Given the description of an element on the screen output the (x, y) to click on. 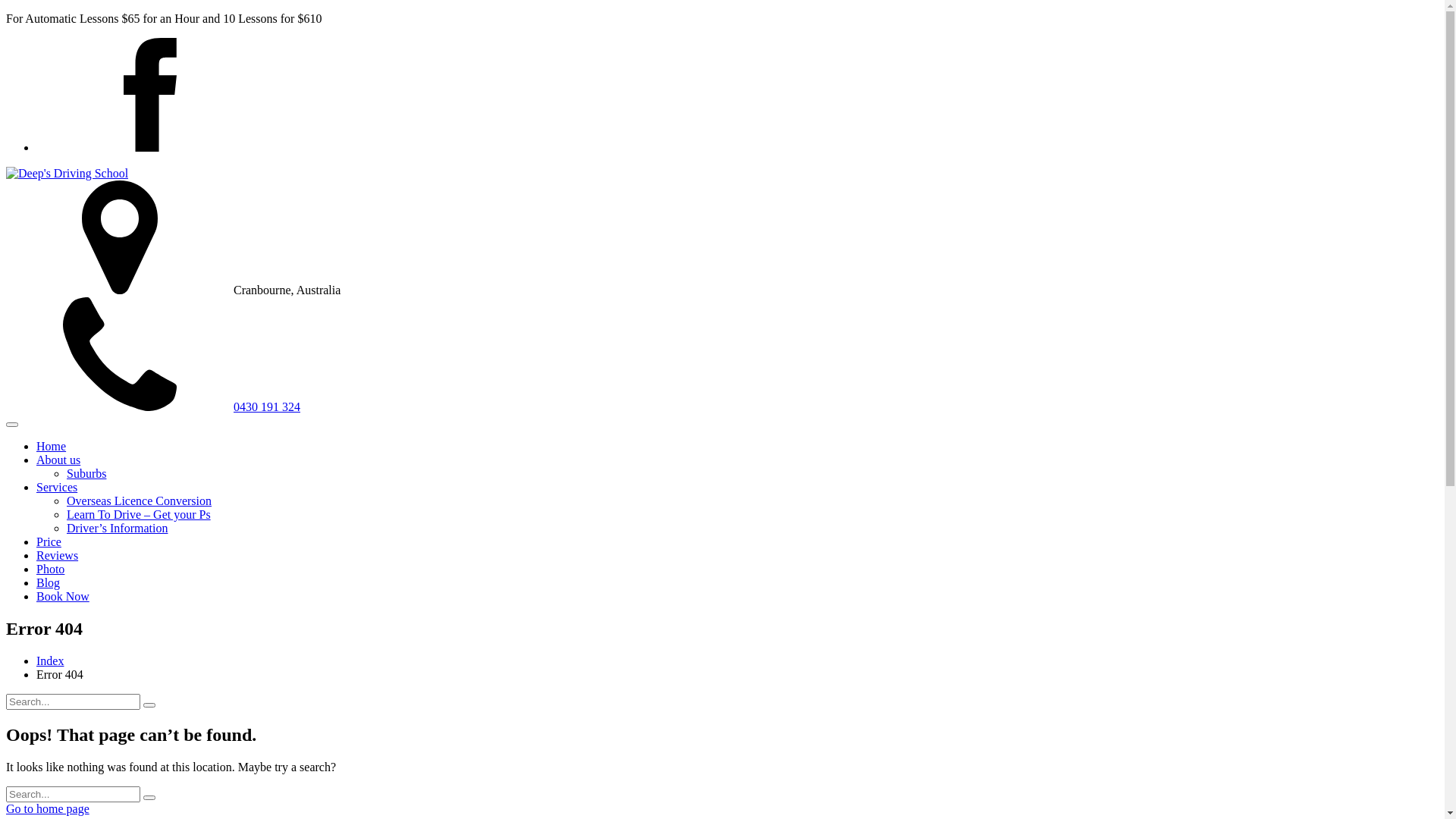
Home Element type: text (50, 445)
0430 191 324 Element type: text (153, 406)
Suburbs Element type: text (86, 473)
Go to home page Element type: text (47, 808)
Index Element type: text (49, 660)
Price Element type: text (48, 541)
Book Now Element type: text (62, 595)
Photo Element type: text (50, 568)
Reviews Element type: text (57, 555)
Blog Element type: text (47, 582)
Overseas Licence Conversion Element type: text (138, 500)
About us Element type: text (58, 459)
Services Element type: text (56, 486)
